Given the description of an element on the screen output the (x, y) to click on. 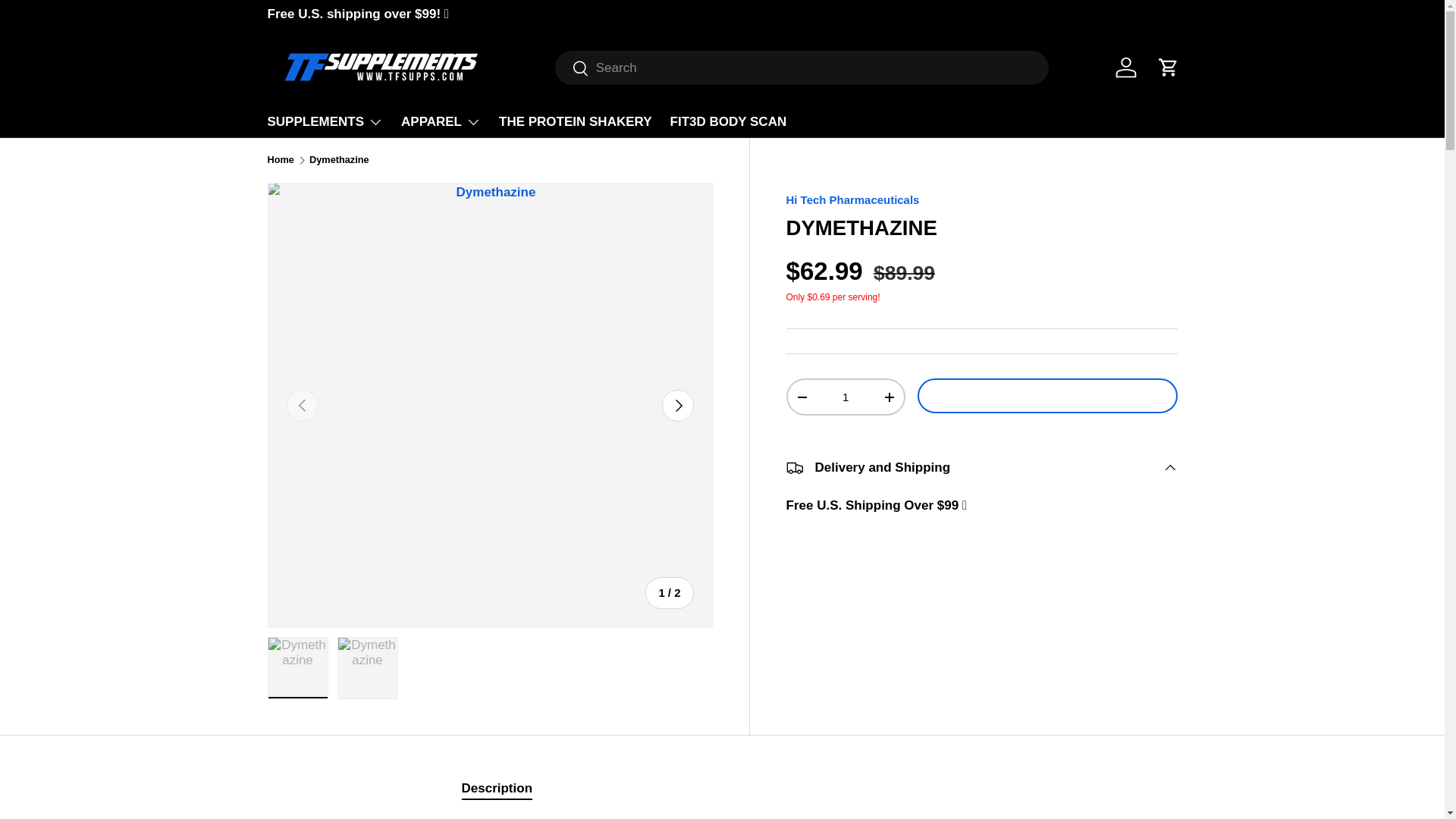
FIT3D BODY SCAN (728, 121)
ADD TO CART (1047, 395)
Hi Tech Pharmaceuticals (852, 199)
Load image 1 in gallery view (296, 668)
APPAREL (440, 121)
Log in (1124, 67)
SKIP TO CONTENT (69, 21)
1 (845, 397)
Load image 2 in gallery view (366, 668)
Search (571, 68)
Dymethazine (338, 160)
NEXT (677, 405)
SUPPLEMENTS (324, 121)
PREVIOUS (302, 405)
THE PROTEIN SHAKERY (575, 121)
